Given the description of an element on the screen output the (x, y) to click on. 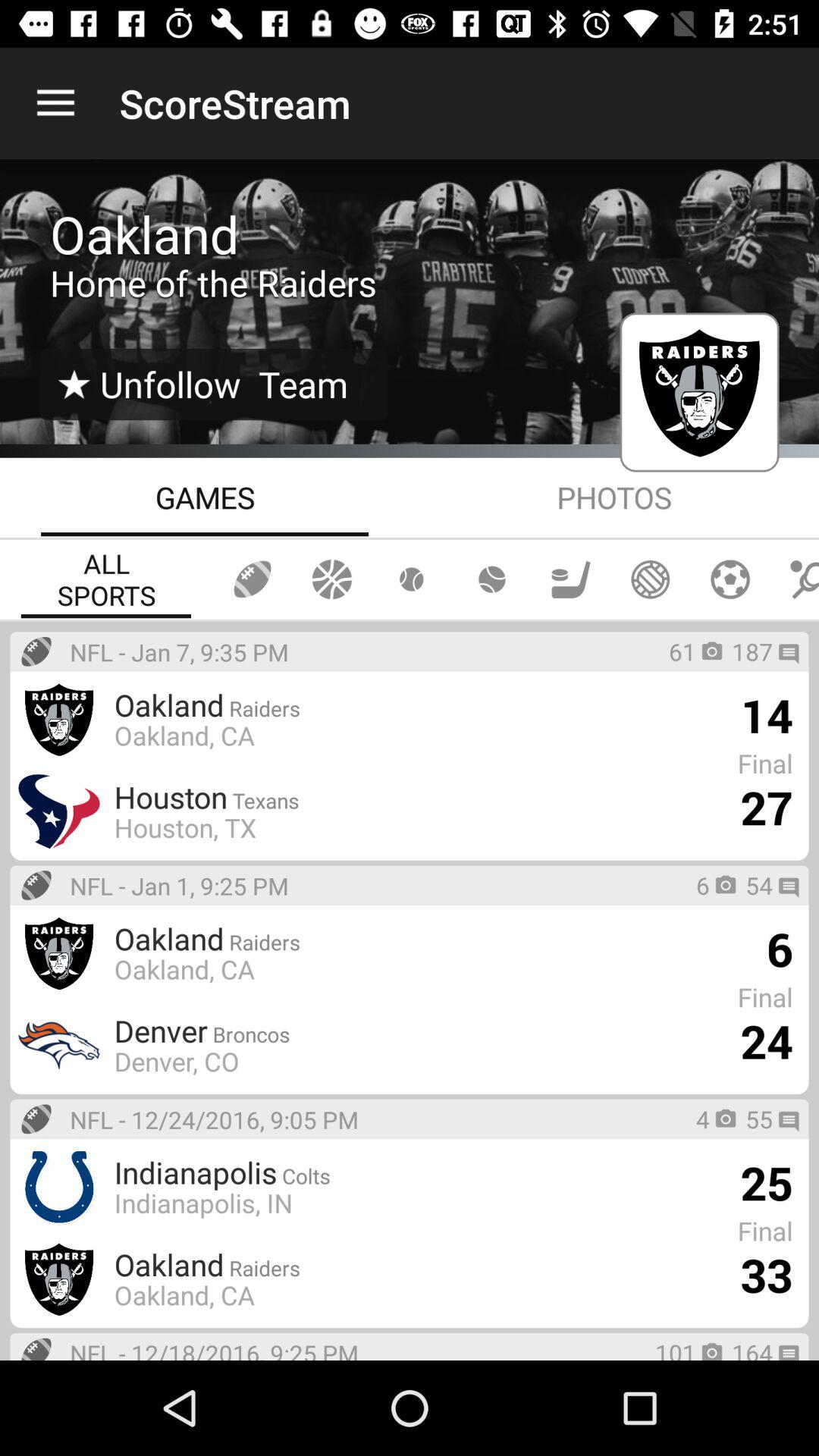
turn off the icon to the right of the houston texans icon (766, 806)
